Given the description of an element on the screen output the (x, y) to click on. 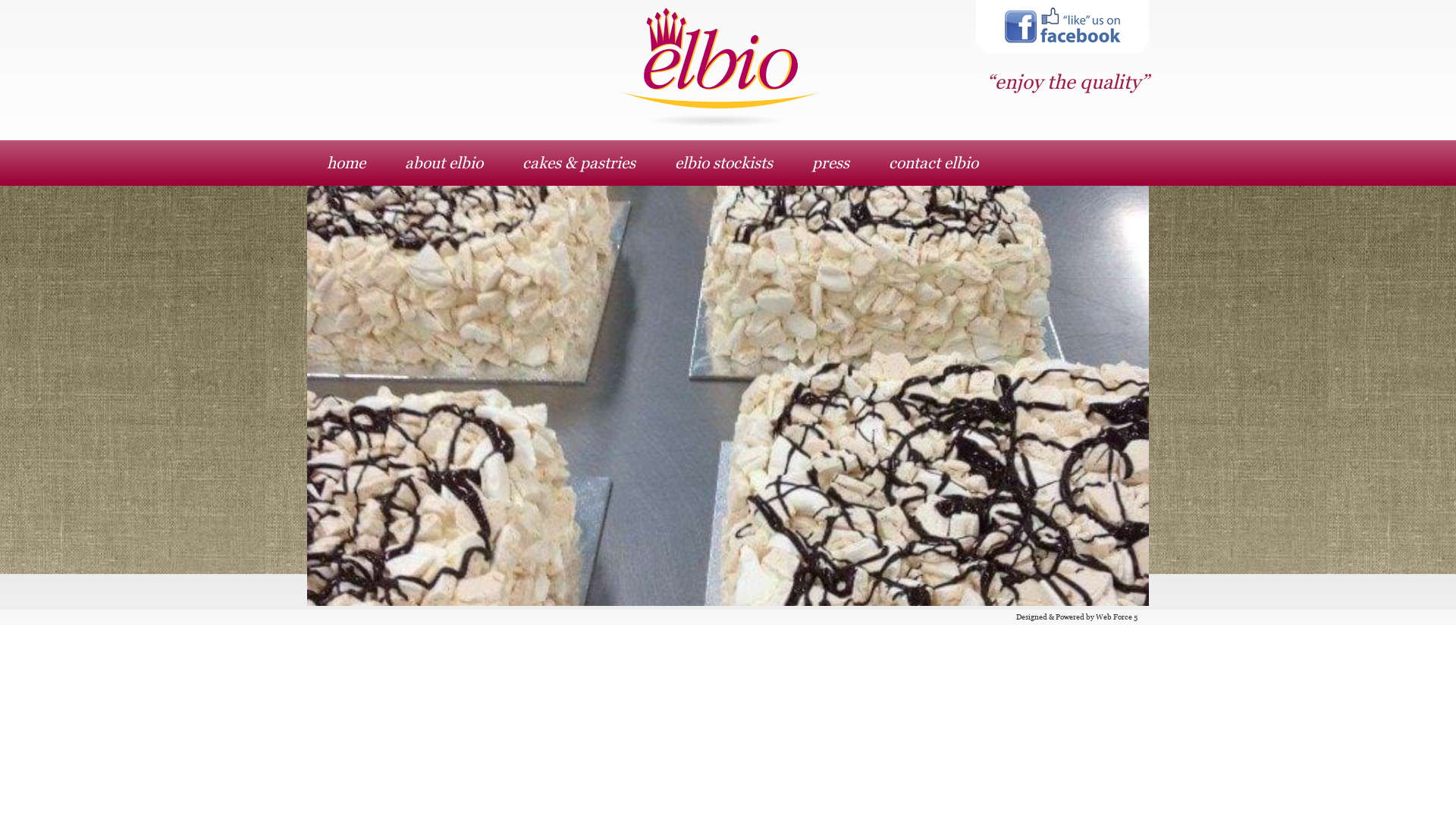
contact elbio Element type: text (933, 162)
Designed & Powered by Web Force 5 Element type: text (1076, 616)
press Element type: text (830, 162)
elbio stockists Element type: text (723, 162)
cakes & pastries Element type: text (578, 162)
home Element type: text (346, 162)
about elbio Element type: text (443, 162)
